Given the description of an element on the screen output the (x, y) to click on. 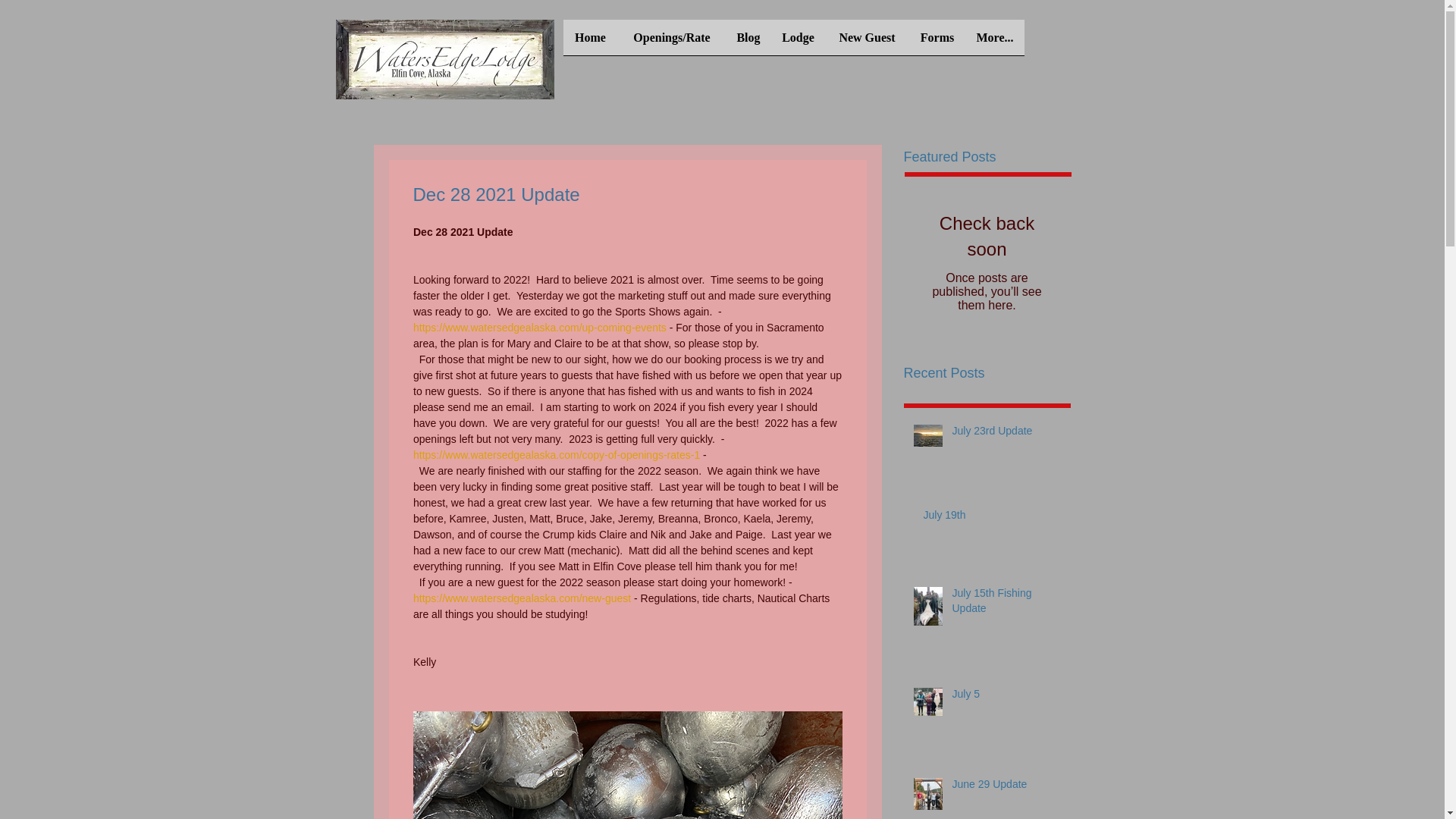
Lodge (797, 42)
New Guest (866, 42)
July 23rd Update (1006, 434)
Home (589, 42)
July 19th (992, 518)
Blog (748, 42)
July 15th Fishing Update (1006, 603)
Forms (936, 42)
July 5 (1006, 697)
June 29 Update (1006, 787)
